Given the description of an element on the screen output the (x, y) to click on. 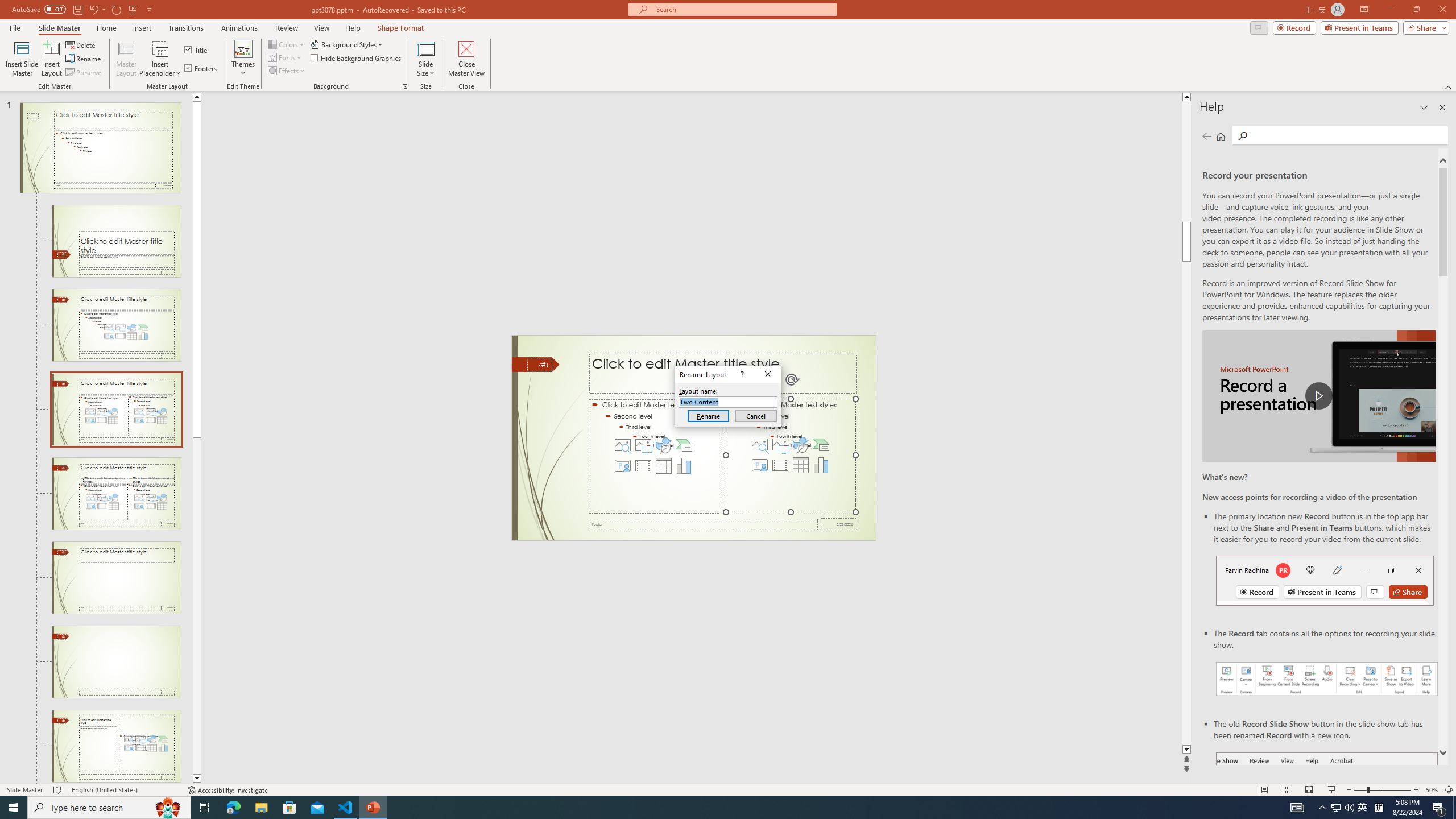
Document Preferences (245, 72)
Repeat Style (193, 18)
